Given the description of an element on the screen output the (x, y) to click on. 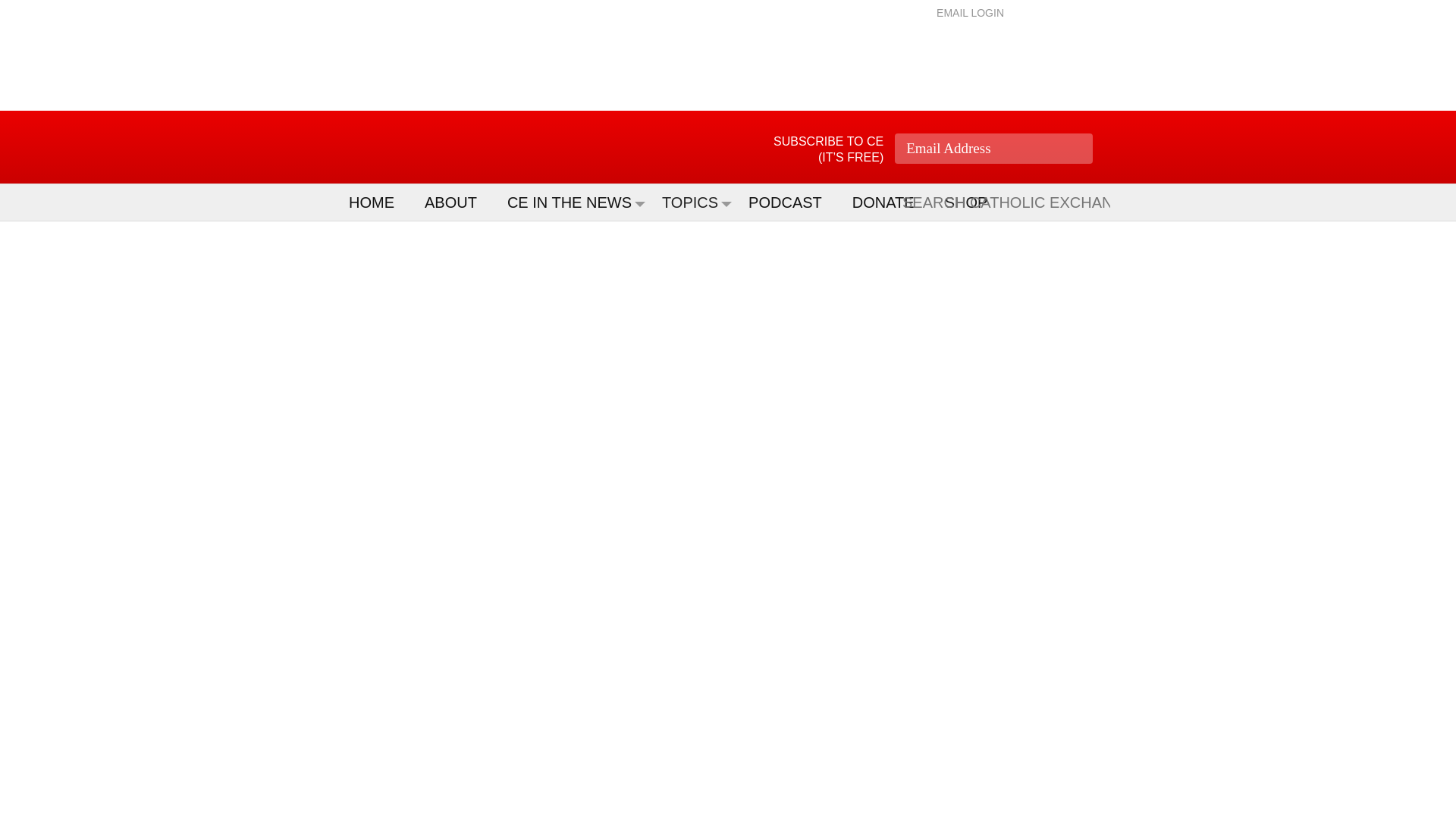
CE IN THE NEWS (576, 201)
PODCAST (792, 201)
ABOUT (458, 201)
DONATE (890, 201)
Catholic Exchange (435, 146)
HOME (379, 201)
EMAIL LOGIN (970, 12)
SHOP (973, 201)
